Given the description of an element on the screen output the (x, y) to click on. 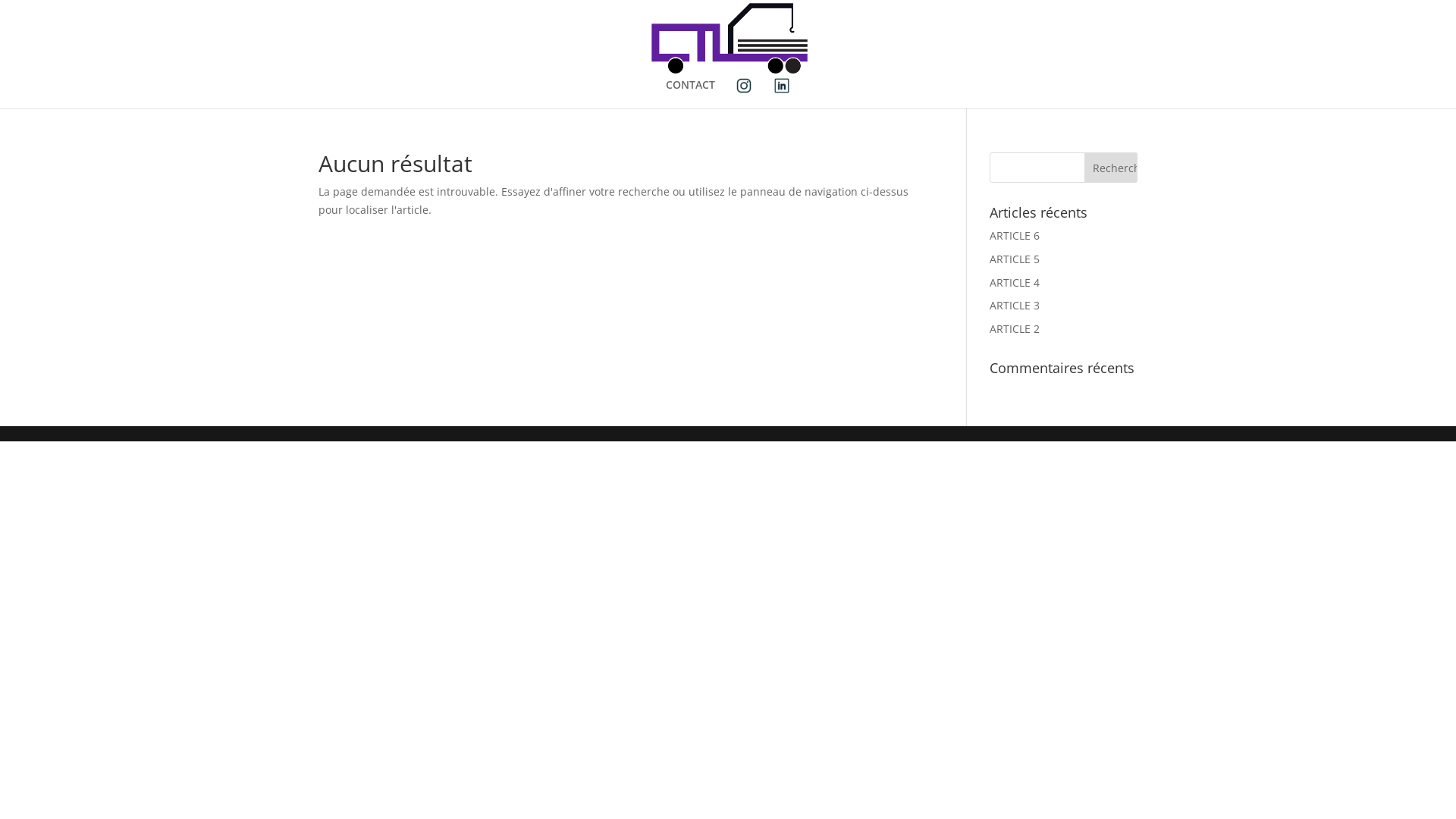
CONTACT Element type: text (690, 91)
ARTICLE 4 Element type: text (1014, 282)
ARTICLE 5 Element type: text (1014, 258)
ARTICLE 3 Element type: text (1014, 305)
ARTICLE 6 Element type: text (1014, 235)
Rechercher Element type: text (1110, 167)
ARTICLE 2 Element type: text (1014, 328)
